Given the description of an element on the screen output the (x, y) to click on. 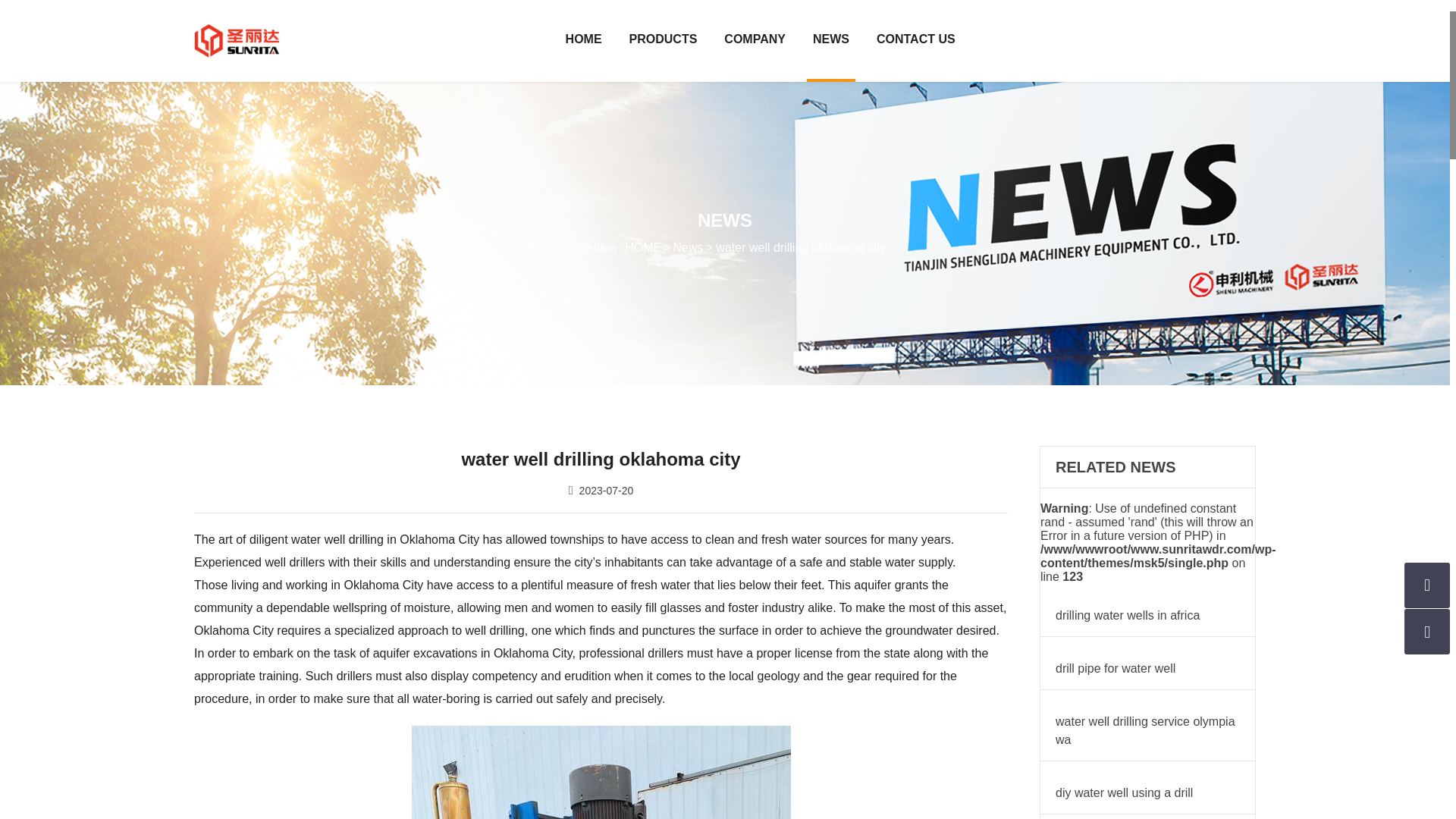
PRODUCTS (663, 40)
CONTACT US (915, 40)
COMPANY (754, 40)
